Given the description of an element on the screen output the (x, y) to click on. 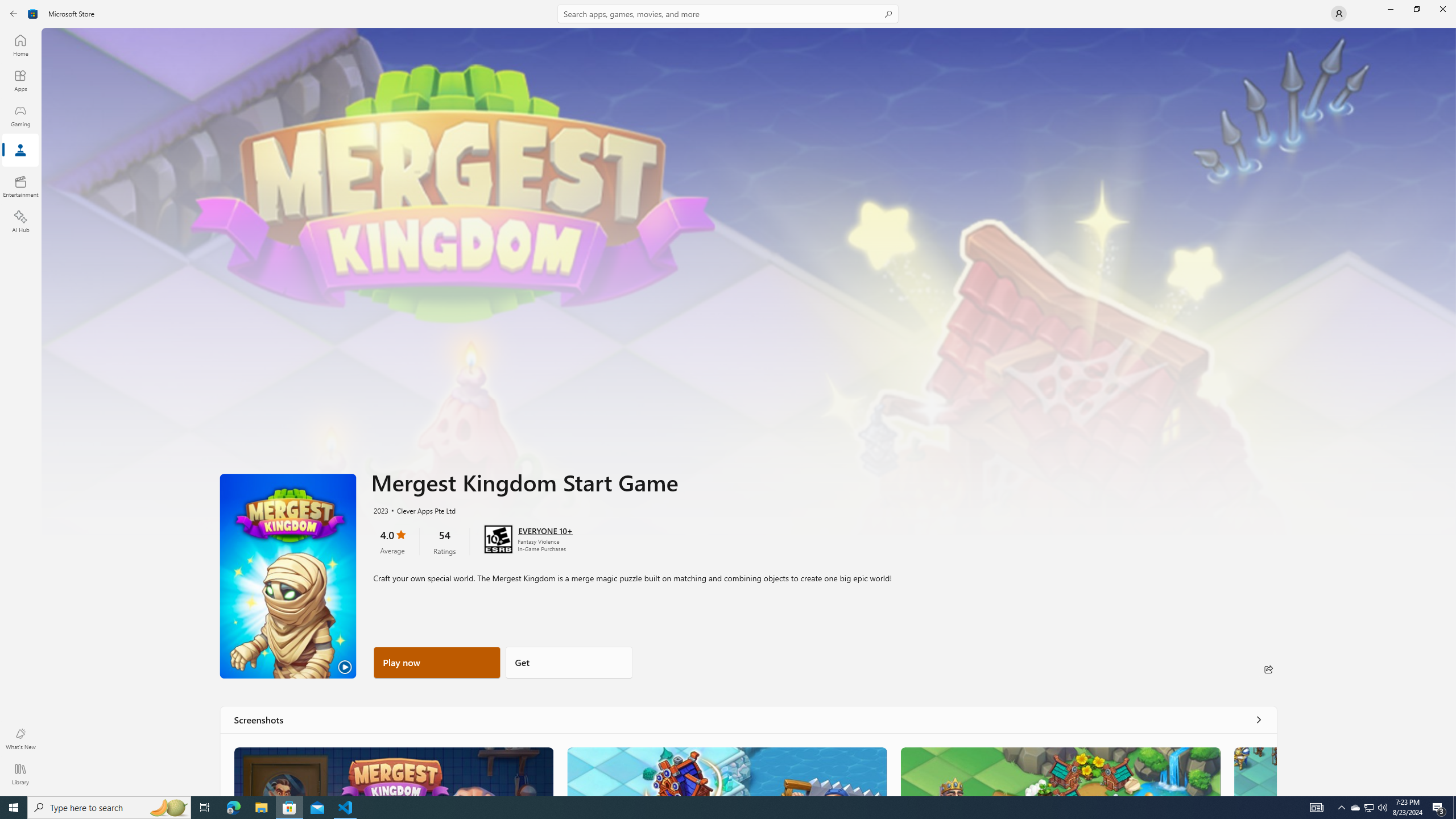
Get (568, 662)
Gaming (20, 115)
2023 (379, 510)
Screenshot 4 (1254, 771)
User profile (1338, 13)
Share (1267, 669)
Library (20, 773)
Play Trailer (287, 575)
Restore Microsoft Store (1416, 9)
Age rating: EVERYONE 10+. Click for more information. (545, 529)
Back (13, 13)
Class: Image (393, 771)
Screenshot 2 (726, 771)
What's New (20, 738)
